Given the description of an element on the screen output the (x, y) to click on. 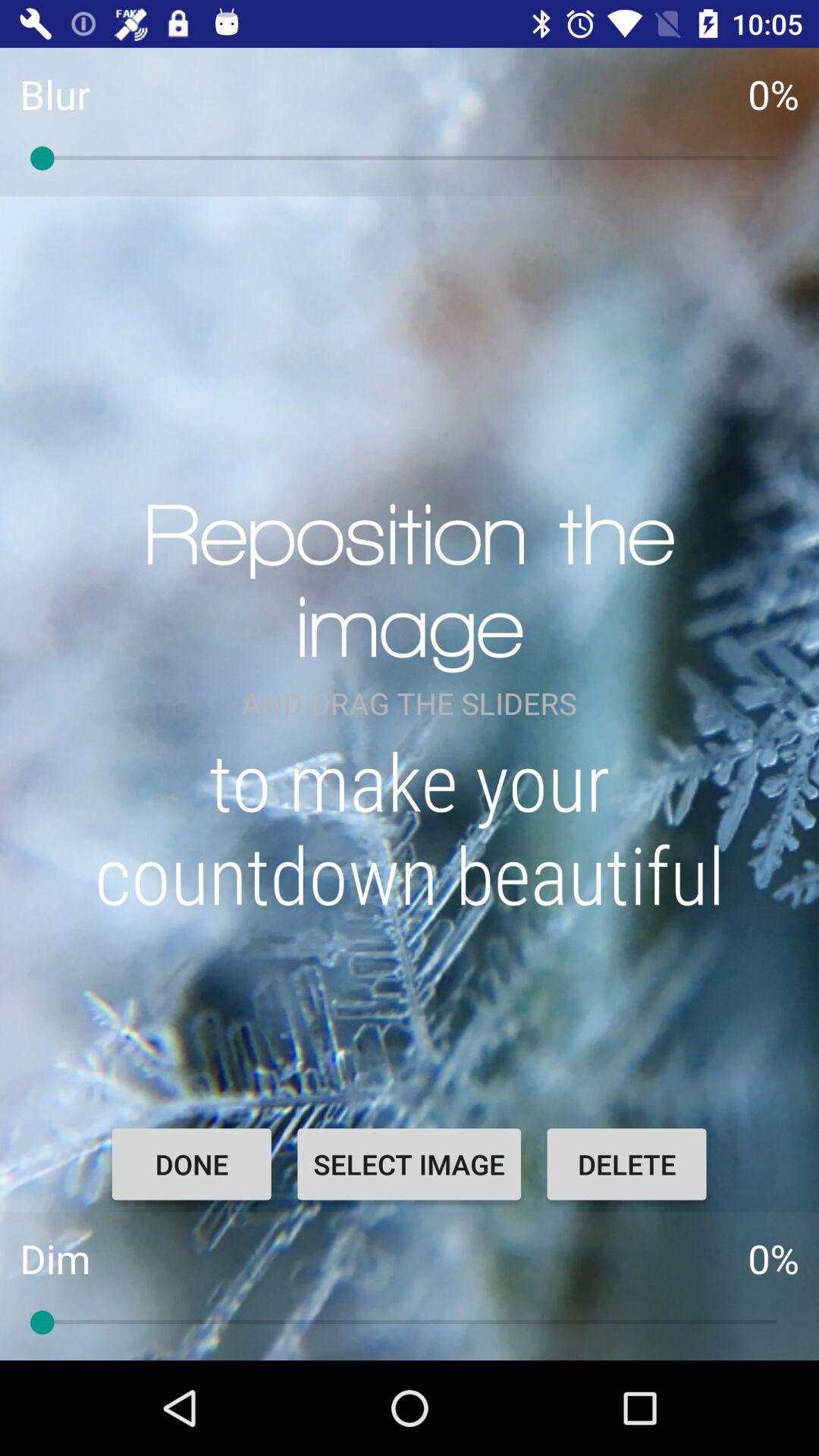
tap icon to the left of the delete (408, 1164)
